Given the description of an element on the screen output the (x, y) to click on. 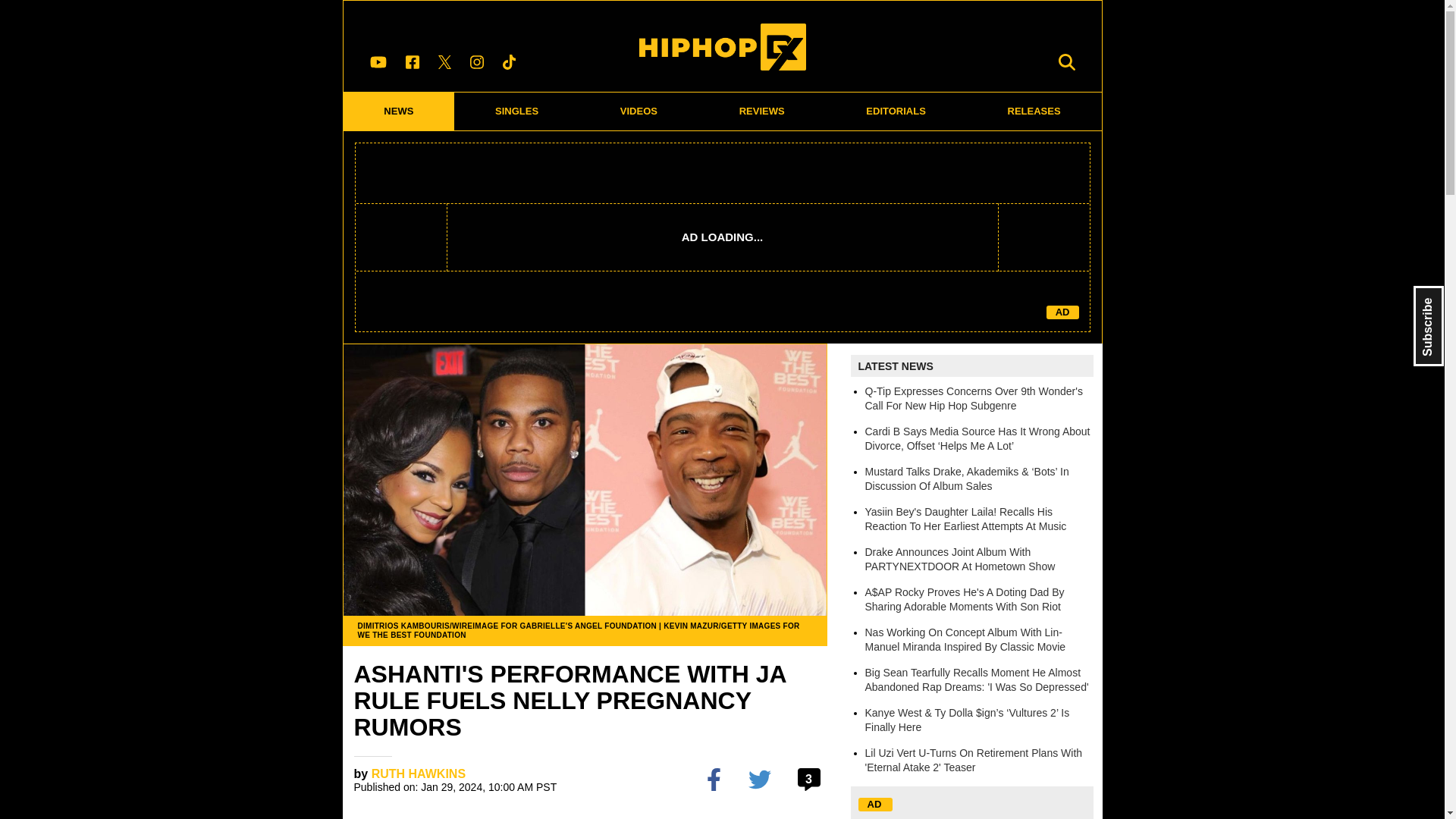
RUTH HAWKINS (418, 773)
SINGLES (516, 111)
Ashanti (376, 817)
REVIEWS (761, 111)
Nelly (777, 817)
EDITORIALS (895, 111)
3 (810, 779)
VIDEOS (638, 111)
NEWS (398, 111)
RELEASES (1034, 111)
